Given the description of an element on the screen output the (x, y) to click on. 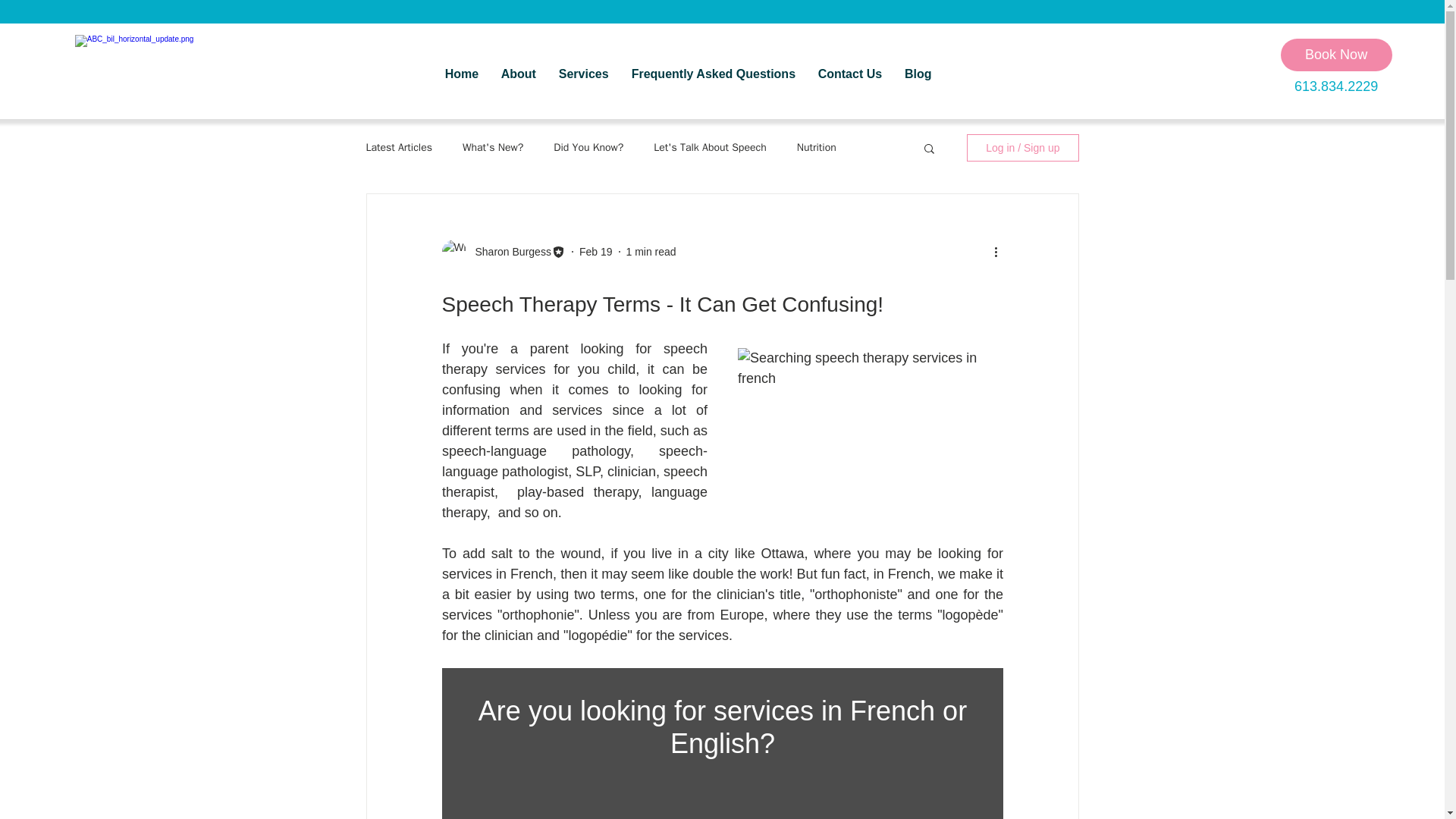
1 min read (651, 251)
Latest Articles (398, 147)
Did You Know? (588, 147)
Blog (918, 74)
Home (461, 74)
What's New? (492, 147)
Contact Us (849, 74)
Sharon Burgess (507, 252)
Nutrition (815, 147)
Book Now (1336, 54)
